Given the description of an element on the screen output the (x, y) to click on. 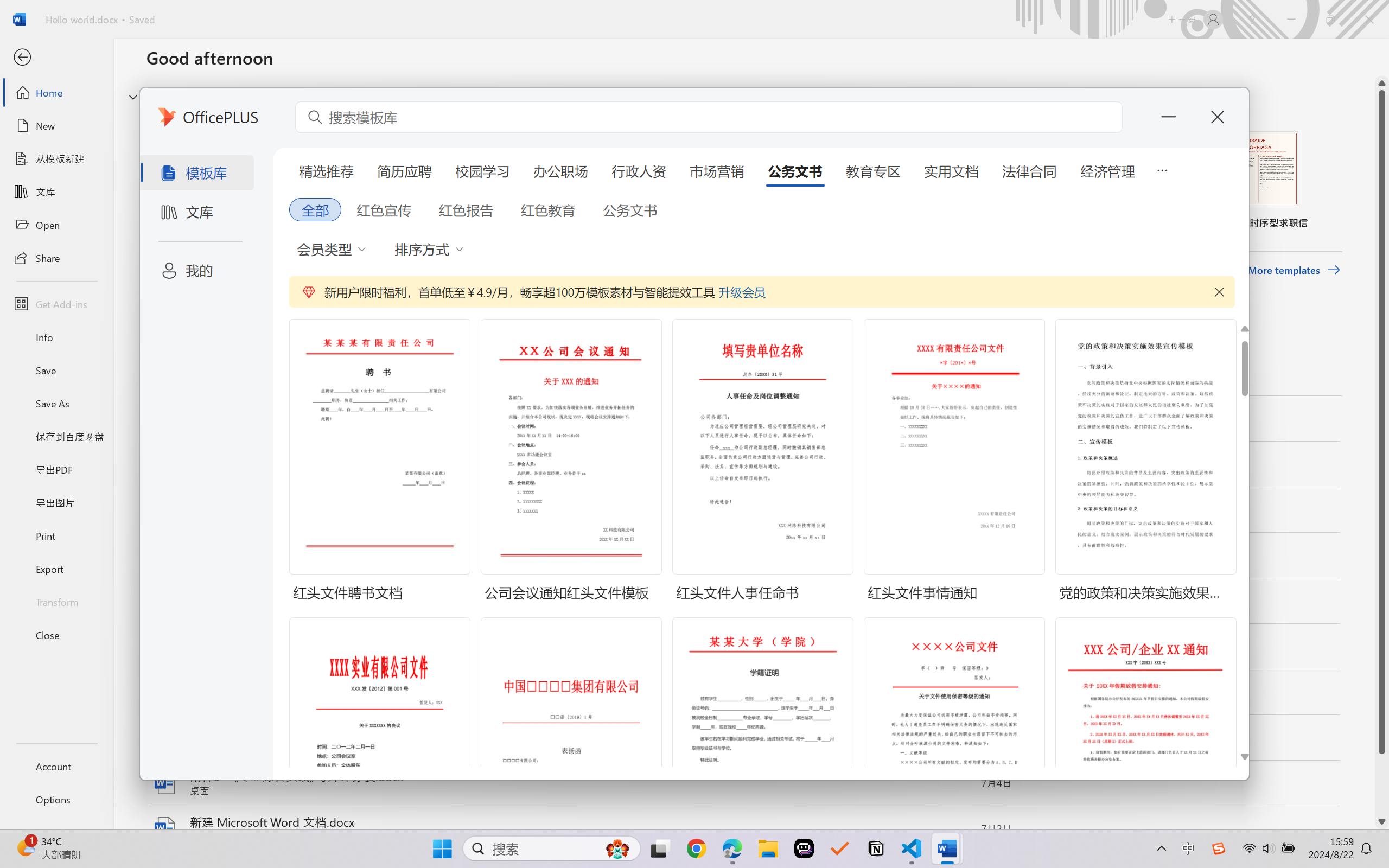
Get Add-ins (56, 303)
Home (56, 92)
5 more tabs (1161, 169)
